Given the description of an element on the screen output the (x, y) to click on. 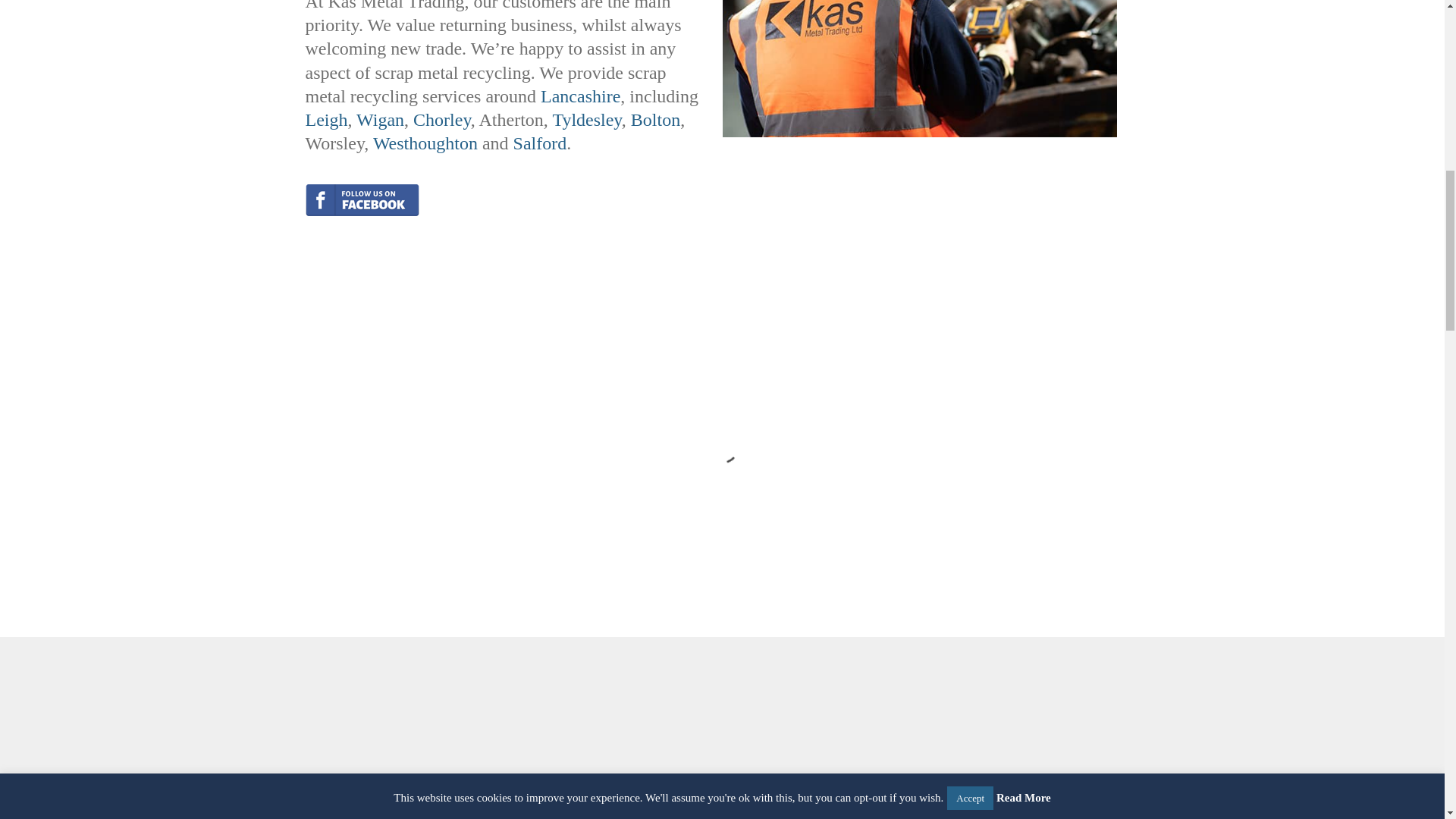
Salford (540, 143)
Bolton (654, 119)
Chorley (441, 119)
Wigan (380, 119)
Lancashire (580, 96)
kas-box-01 (919, 69)
Tyldesley (586, 119)
Leigh (325, 119)
follow-us-on-facebook (361, 200)
Westhoughton (424, 143)
